Given the description of an element on the screen output the (x, y) to click on. 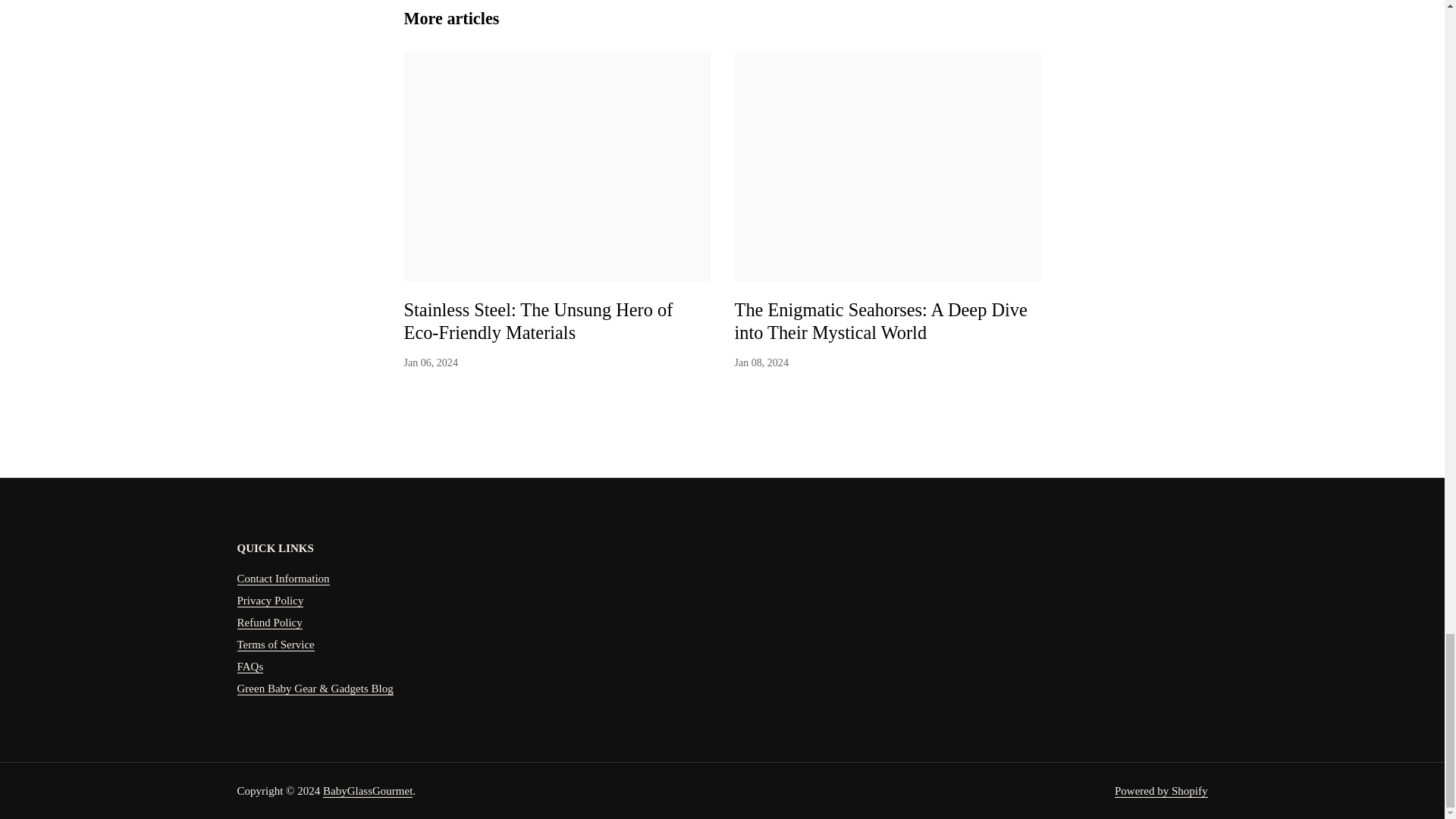
FAQs (249, 666)
Stainless Steel: The Unsung Hero of Eco-Friendly Materials (537, 323)
Stainless Steel: The Unsung Hero of Eco-Friendly Materials (537, 323)
Privacy Policy (268, 600)
BabyGlassGourmet (367, 790)
Contact Information (282, 578)
Stainless Steel: The Unsung Hero of Eco-Friendly Materials (556, 166)
